Given the description of an element on the screen output the (x, y) to click on. 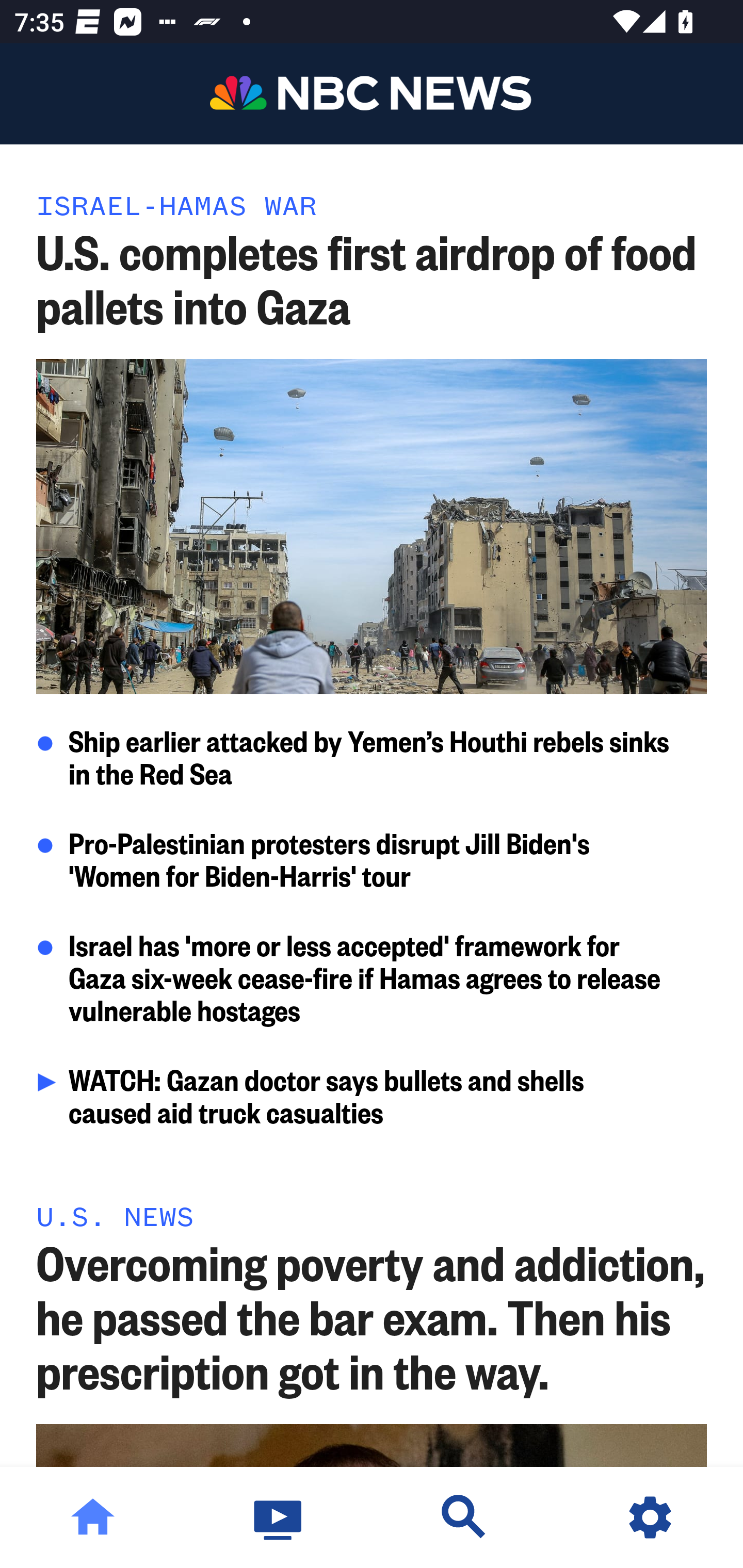
Watch (278, 1517)
Discover (464, 1517)
Settings (650, 1517)
